Given the description of an element on the screen output the (x, y) to click on. 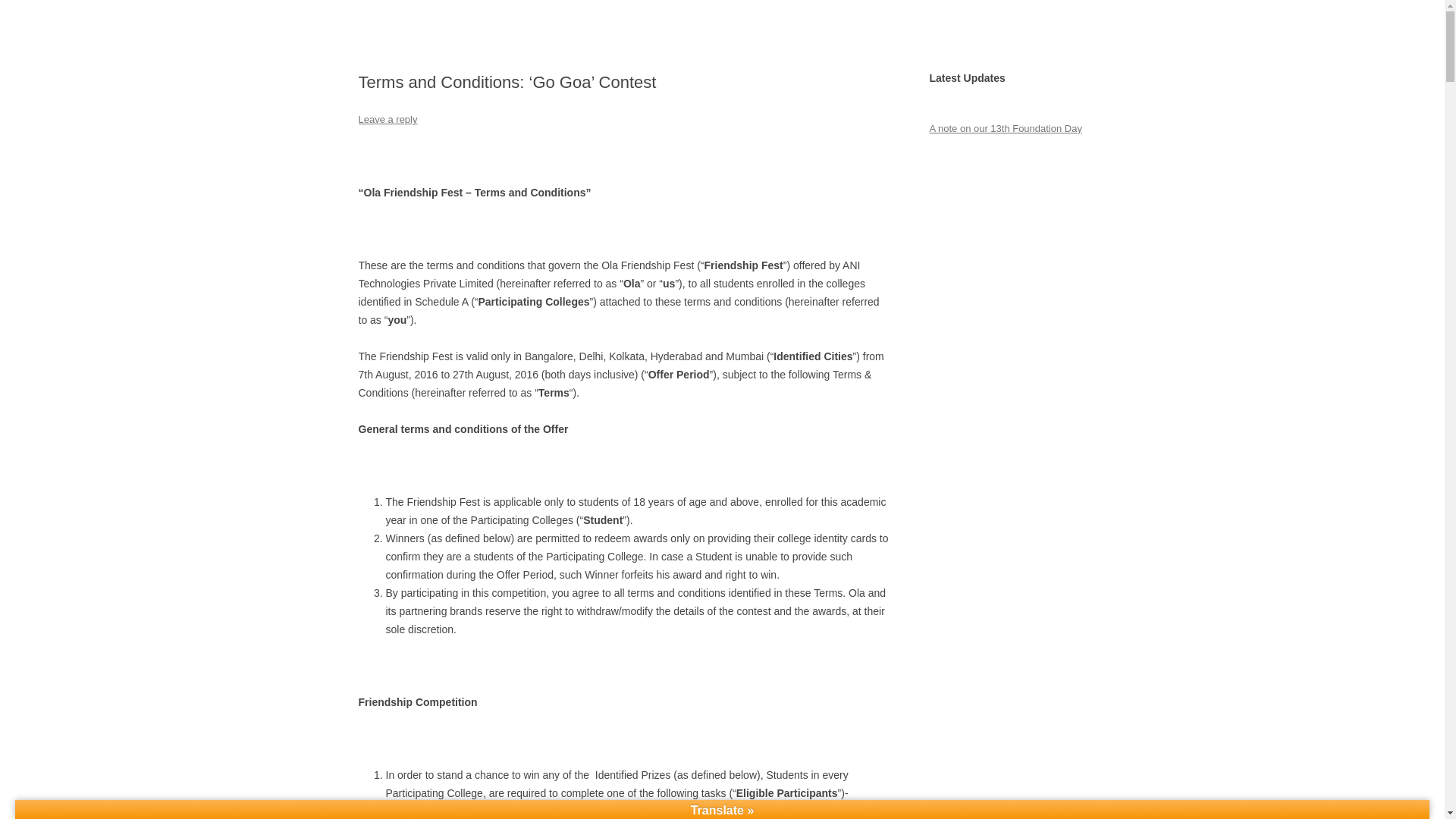
A note on our 13th Foundation Day (1004, 128)
Olacabs Blogs (426, 36)
Leave a reply (387, 119)
